Given the description of an element on the screen output the (x, y) to click on. 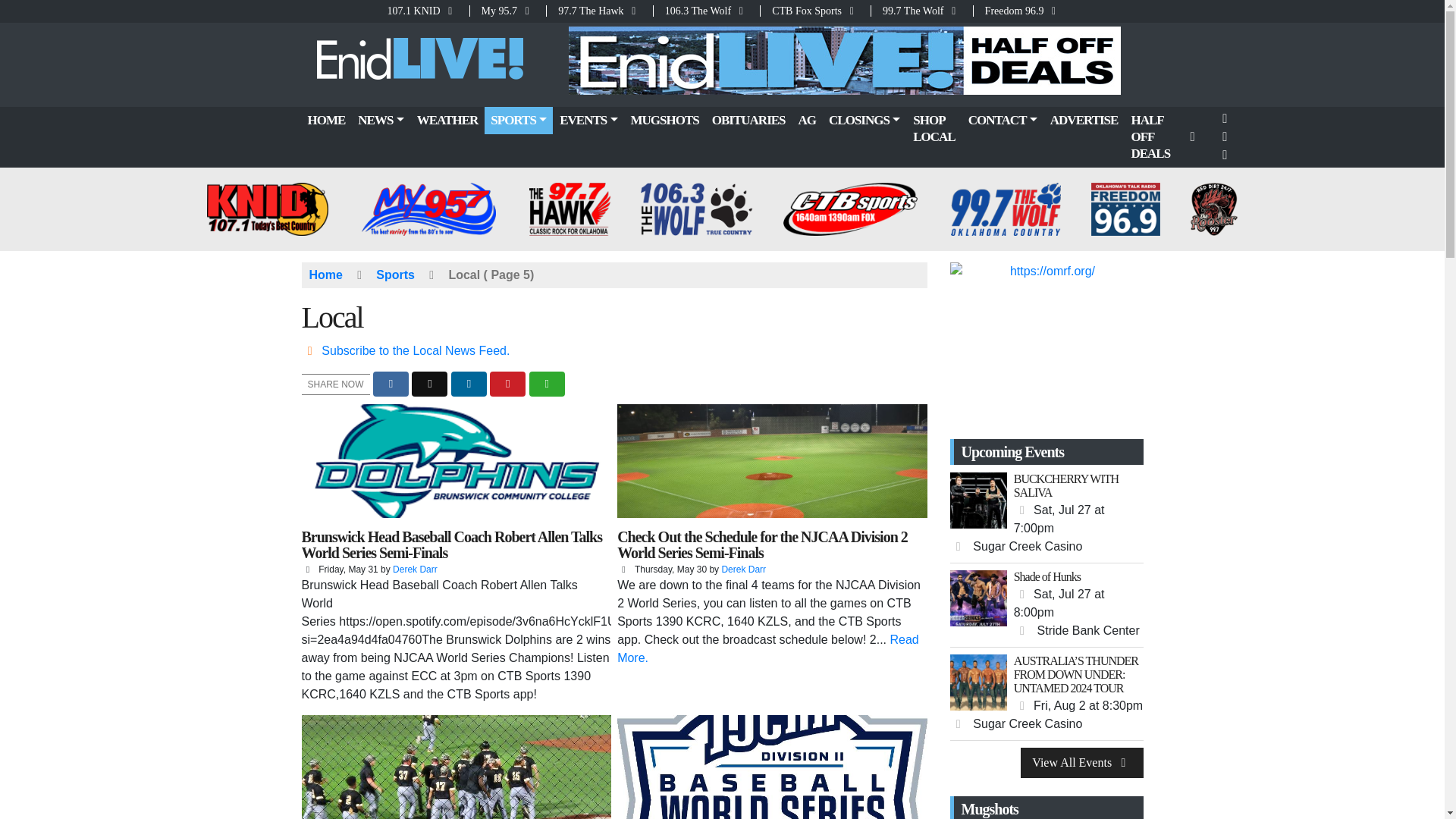
107.1 KNID (427, 10)
My 95.7 (508, 10)
Share to X (429, 383)
Share to LinkedIn (468, 383)
Follow us on Facebook (1225, 118)
Share to Facebook (390, 383)
Follow us on X (1225, 136)
Follow us on Instagram (1225, 154)
